Given the description of an element on the screen output the (x, y) to click on. 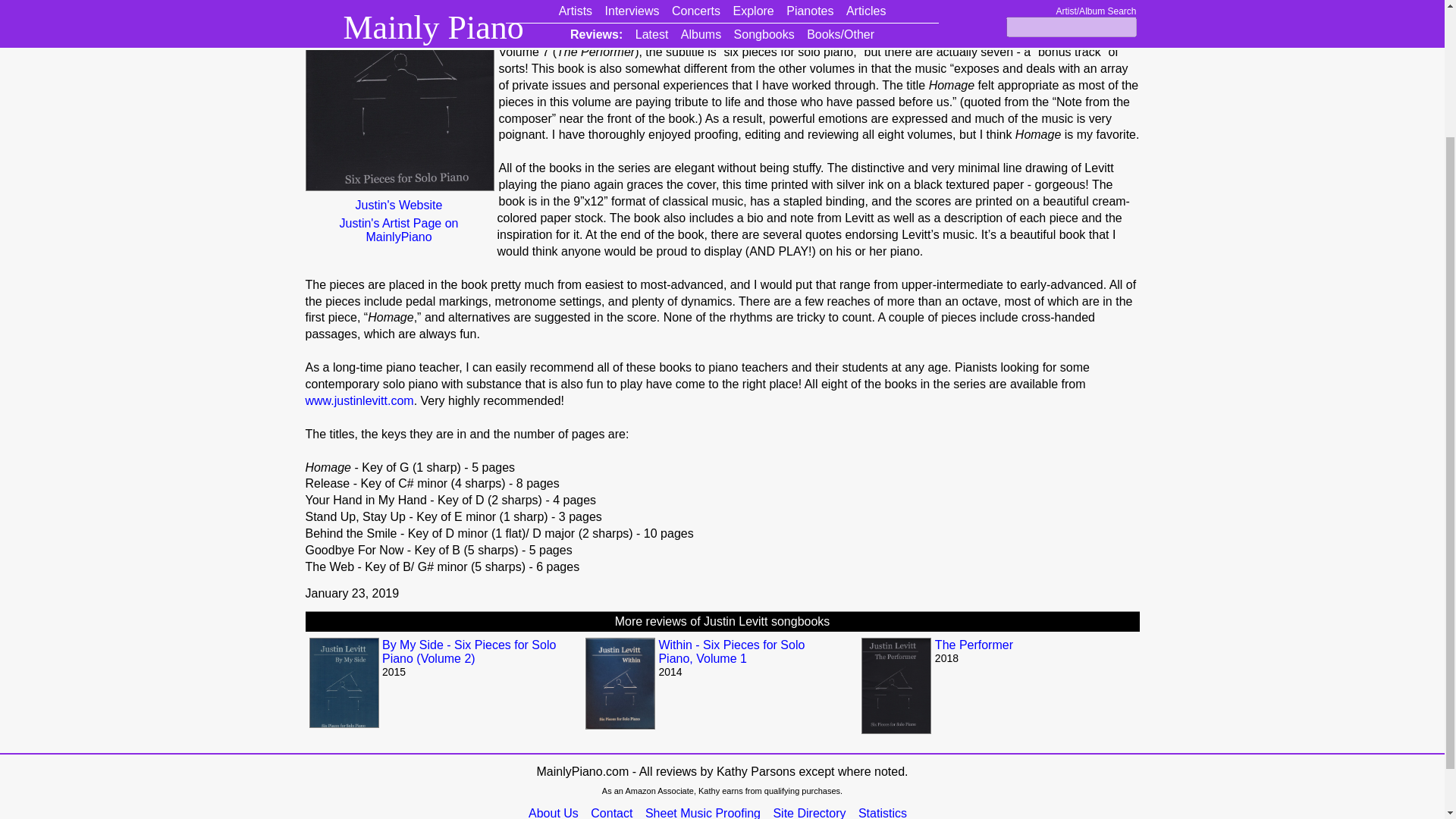
Justin's Artist Page on MainlyPiano (398, 230)
Within - Six Pieces for Solo Piano, Volume 1 (731, 651)
www.justinlevitt.com (358, 400)
Justin's Website (398, 205)
The Performer (973, 644)
